Given the description of an element on the screen output the (x, y) to click on. 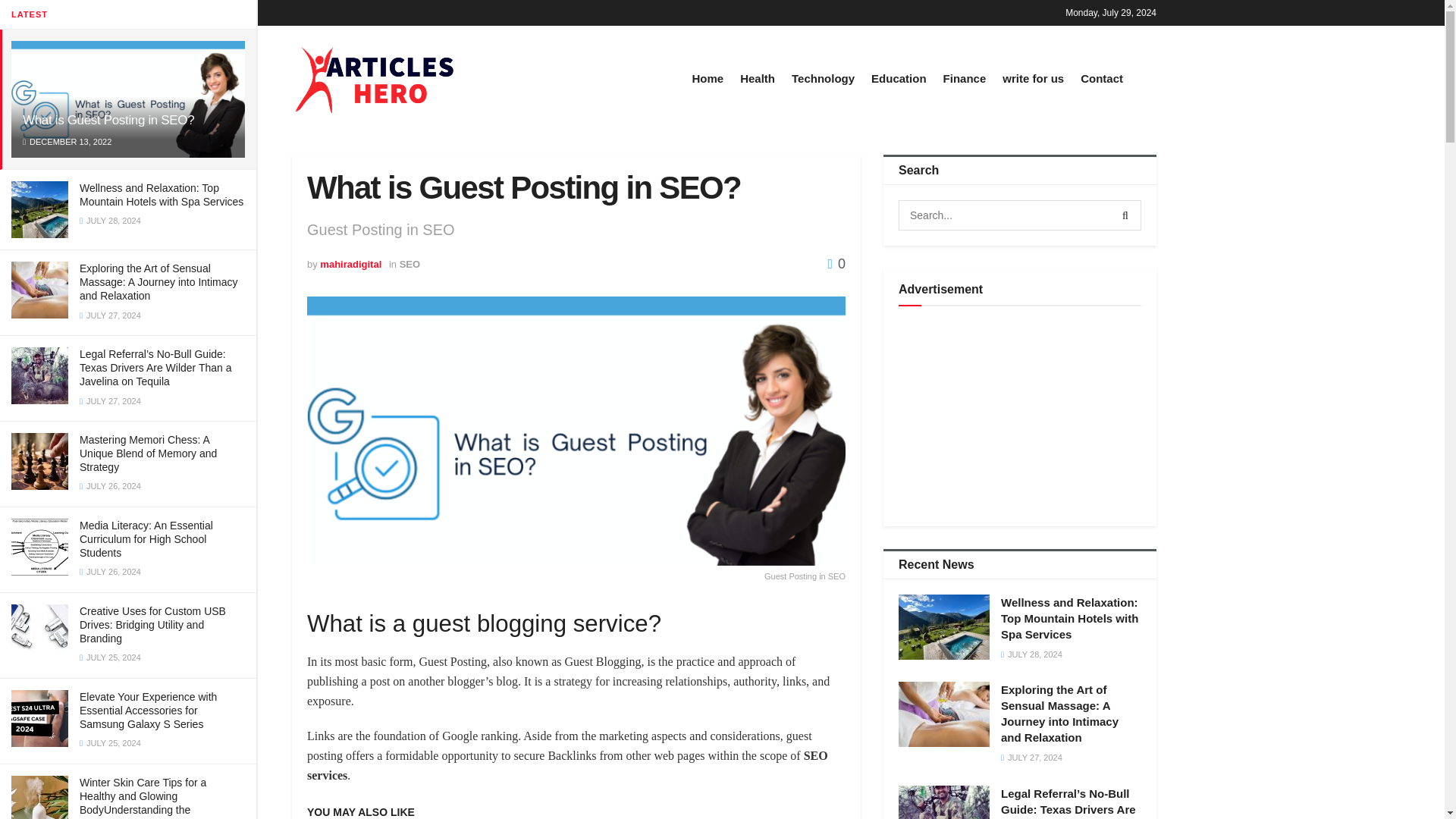
Education (898, 78)
Technology (823, 78)
write for us (1033, 78)
What is Guest Posting in SEO? (108, 120)
Contact (1101, 78)
Advertisement (1019, 416)
Home (707, 78)
Health (756, 78)
Finance (965, 78)
